Given the description of an element on the screen output the (x, y) to click on. 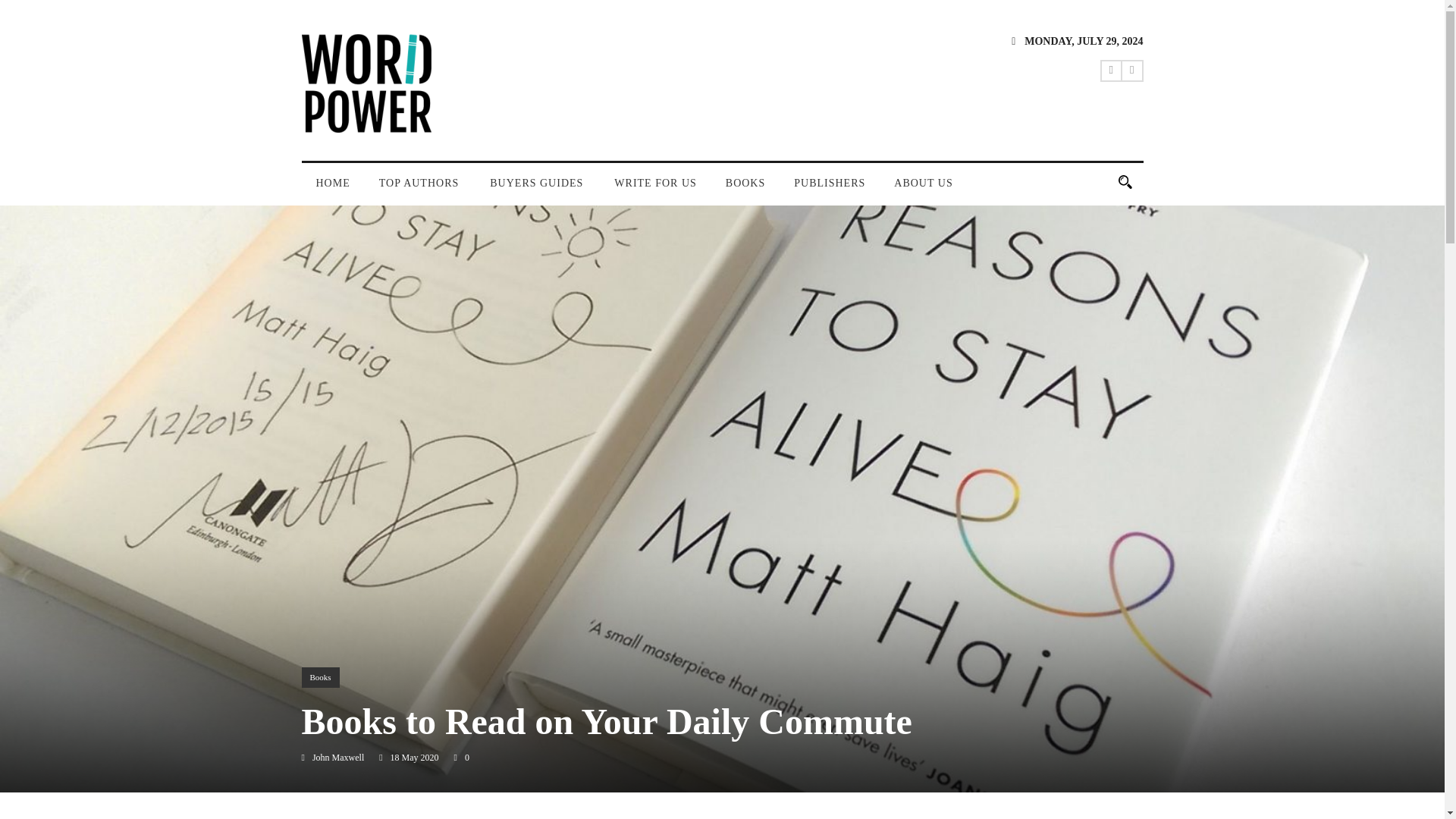
Books (320, 677)
TOP AUTHORS (420, 189)
HOME (333, 189)
ABOUT US (922, 189)
PUBLISHERS (828, 189)
BUYERS GUIDES (537, 189)
Posts by John Maxwell (338, 757)
BOOKS (744, 189)
WRITE FOR US (654, 189)
